Given the description of an element on the screen output the (x, y) to click on. 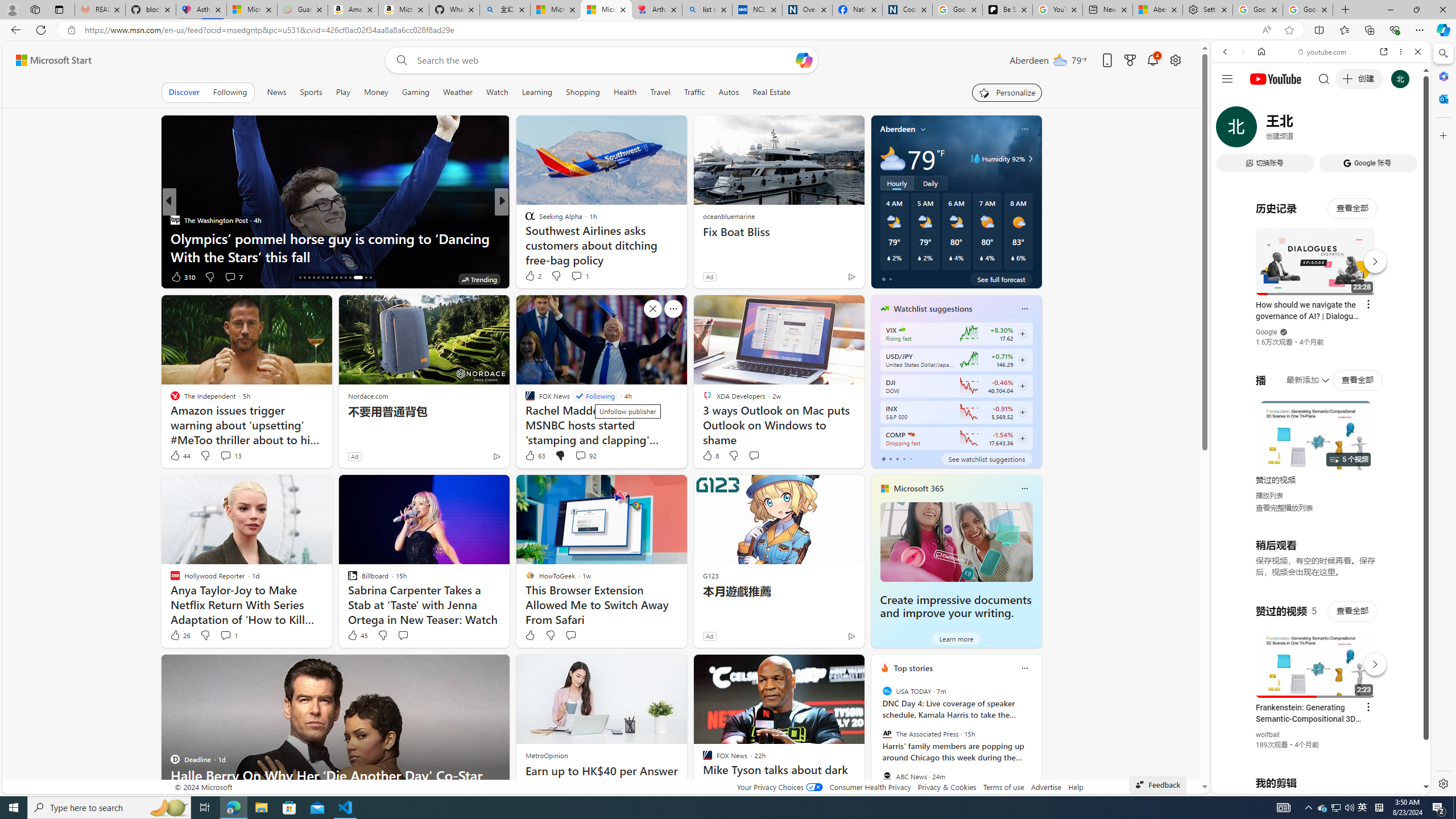
View comments 13 Comment (225, 455)
Money (375, 92)
Learning (537, 92)
Real Estate (771, 92)
16 Like (180, 276)
Class: b_serphb (1404, 130)
Gaming (415, 92)
Google (1320, 281)
AutomationID: tab-20 (317, 277)
Class: dict_pnIcon rms_img (1312, 784)
